Given the description of an element on the screen output the (x, y) to click on. 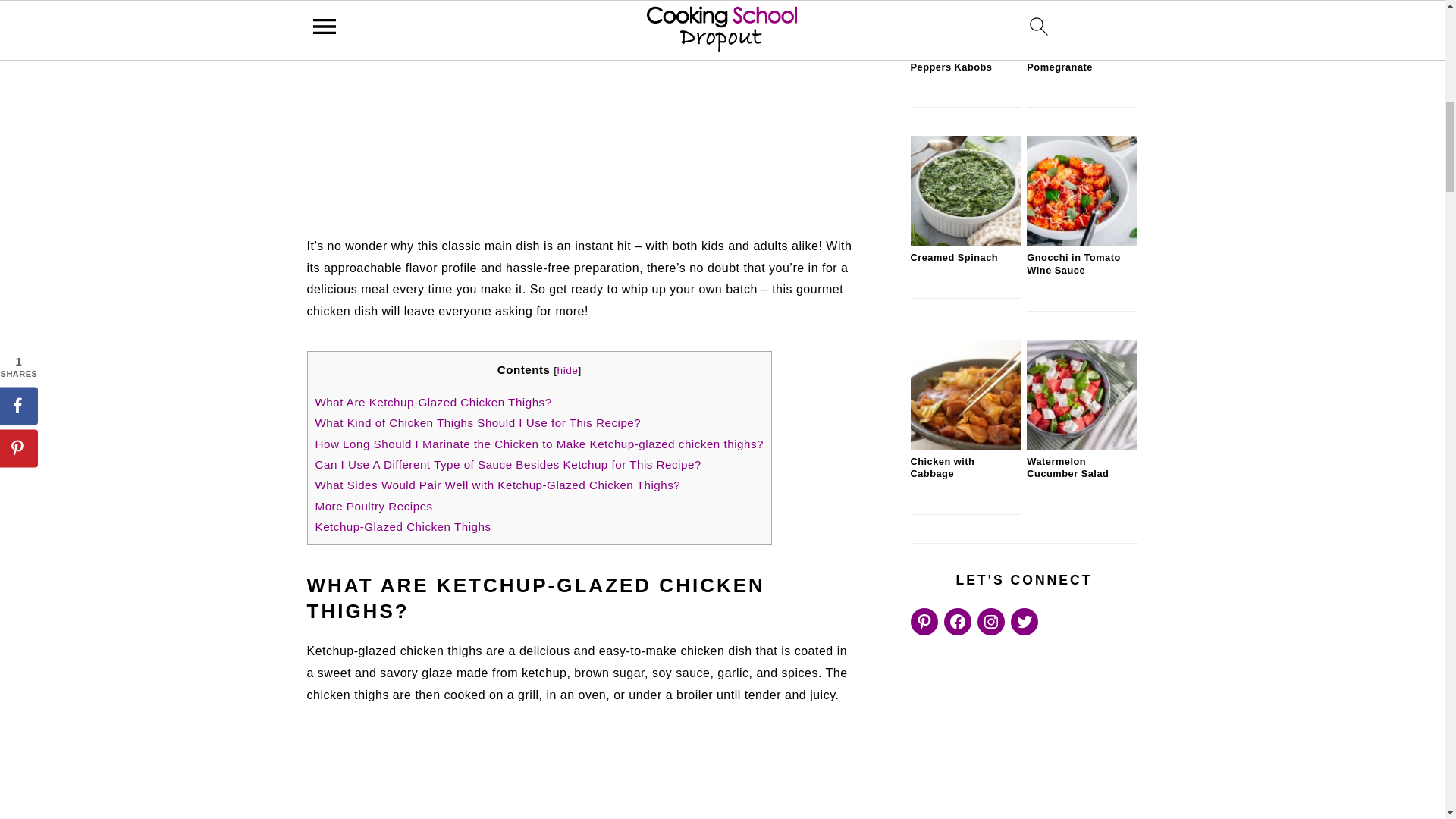
Chicken with Cabbage (965, 446)
Ketchup-Glazed Chicken Thighs (403, 526)
Chicken with Pomegranate (1081, 39)
What Kind of Chicken Thighs Should I Use for This Recipe? (478, 422)
Watermelon Cucumber Salad (1081, 446)
Creamed Spinach (965, 242)
What Are Ketchup-Glazed Chicken Thighs? (433, 401)
hide (567, 369)
More Poultry Recipes (373, 505)
Gnocchi in Tomato Wine Sauce (1081, 242)
